Given the description of an element on the screen output the (x, y) to click on. 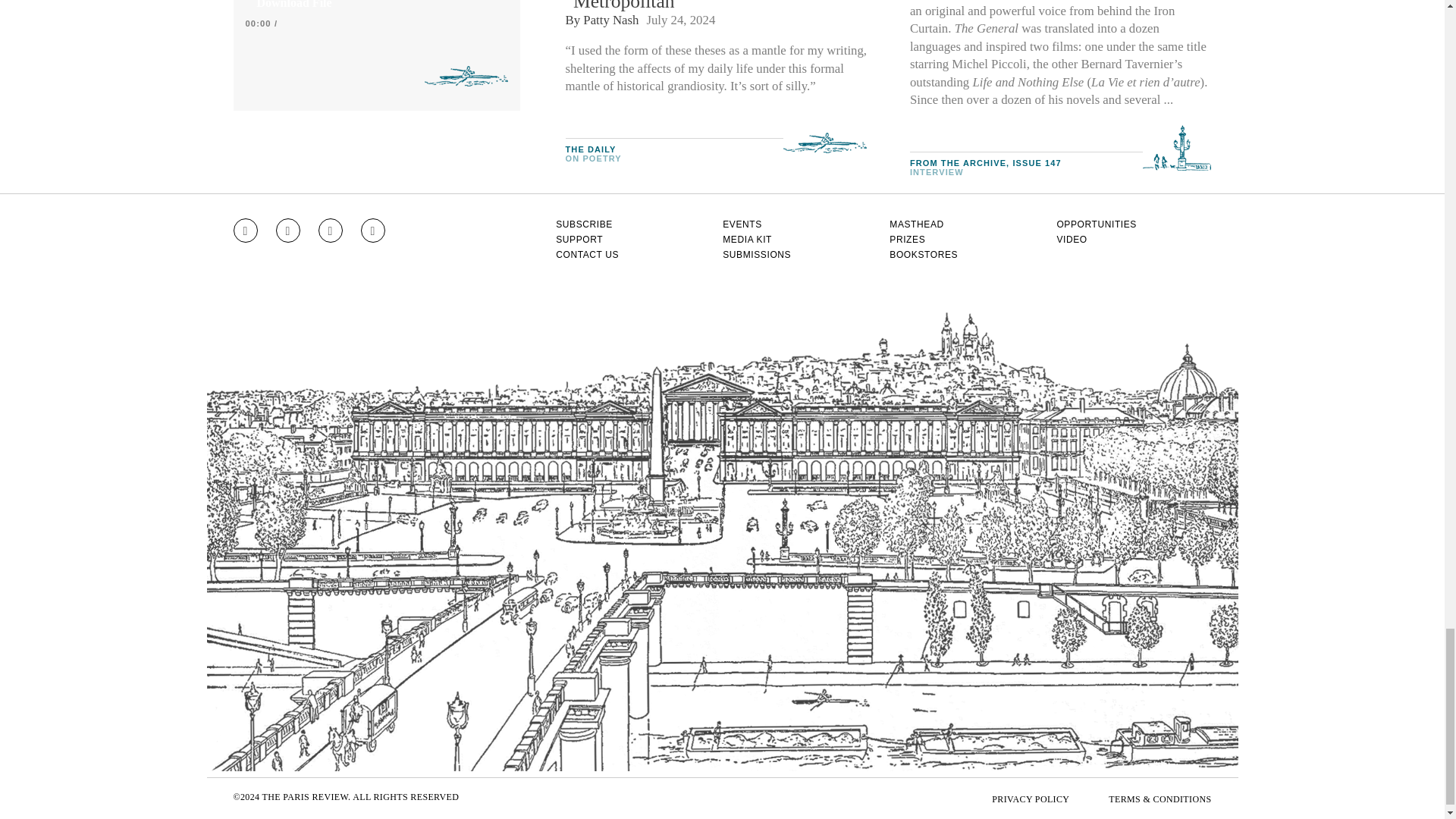
Go to Instagram feed (244, 230)
Go to RSS feed (373, 230)
Go to Facebook page (287, 230)
Go to Twitter feed (330, 230)
